Given the description of an element on the screen output the (x, y) to click on. 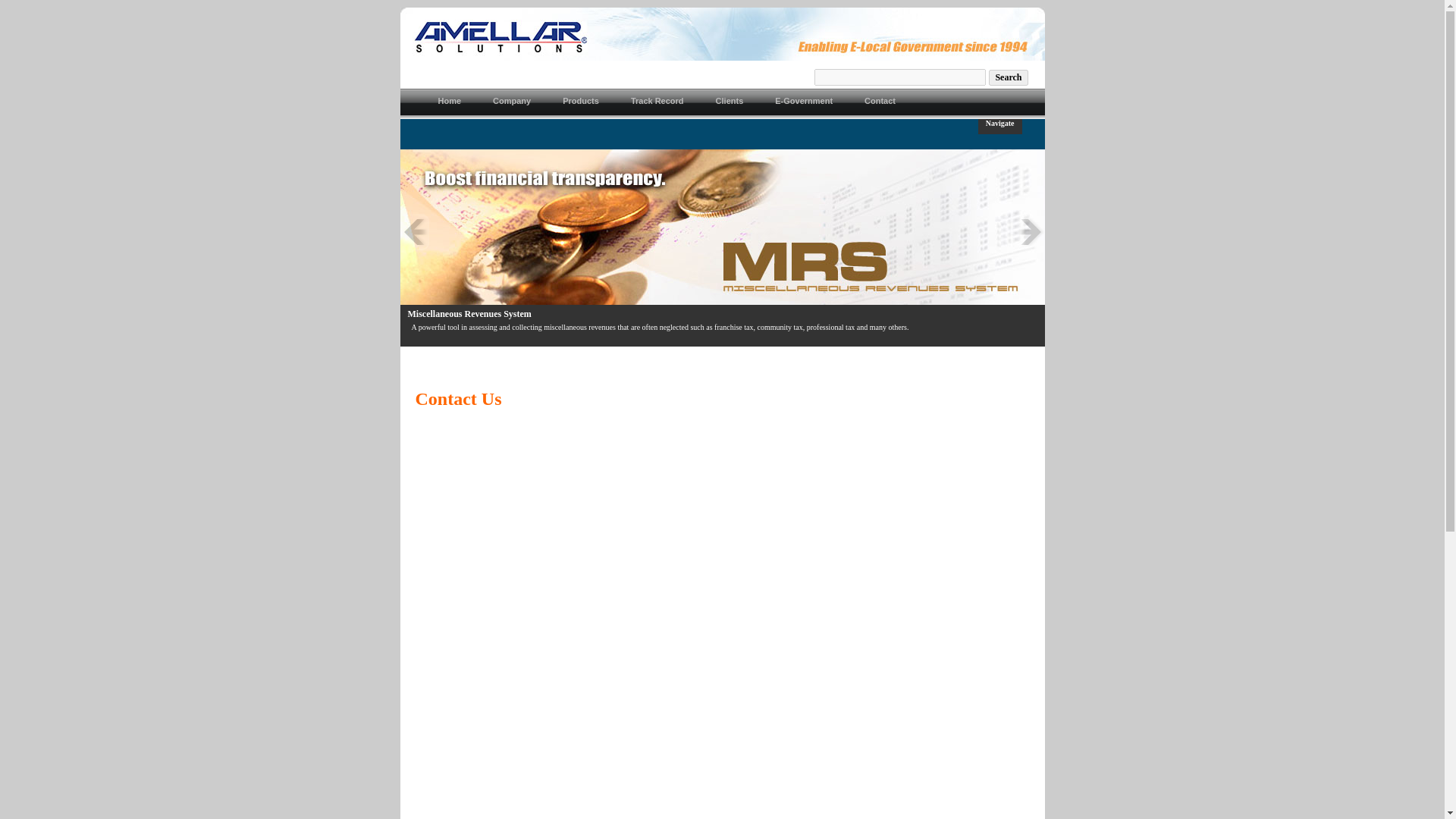
Contact (880, 103)
Clients (729, 103)
E-Government (804, 103)
More details about Miscellaneous Revenues System (721, 230)
Search (1007, 77)
Navigate (1000, 126)
Home (451, 103)
Search (1007, 77)
Company (512, 103)
Products (581, 103)
Track Record (657, 103)
Amellar Solutions (722, 56)
Navigate (1000, 126)
